Given the description of an element on the screen output the (x, y) to click on. 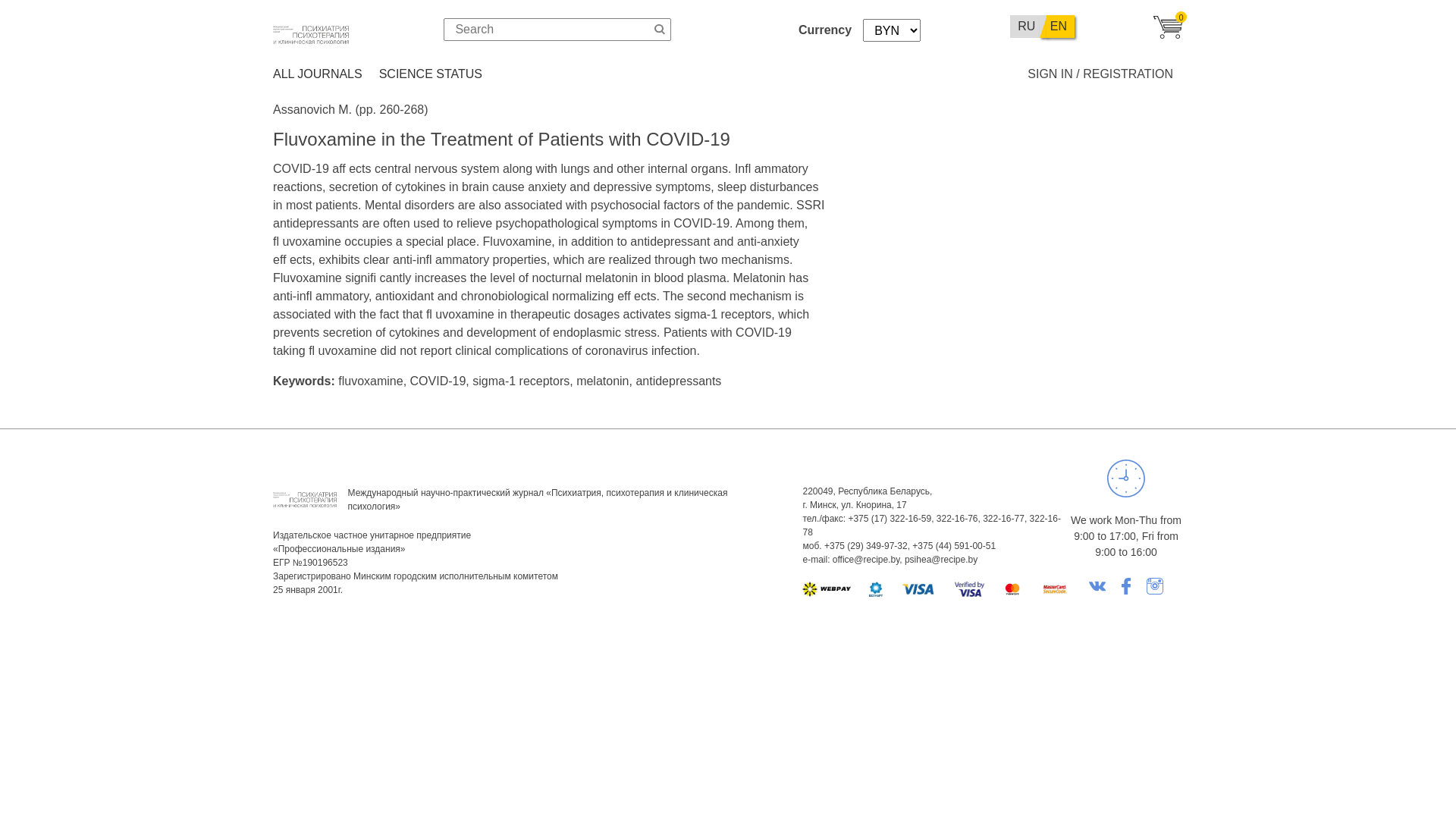
SCIENCE STATUS Element type: text (430, 73)
0 Element type: text (1167, 34)
SIGN IN / REGISTRATION Element type: text (1100, 73)
instagram Element type: hover (1154, 585)
ALL JOURNALS Element type: text (317, 73)
RU Element type: text (1026, 26)
EN Element type: text (1060, 26)
facebook Element type: hover (1125, 585)
